Given the description of an element on the screen output the (x, y) to click on. 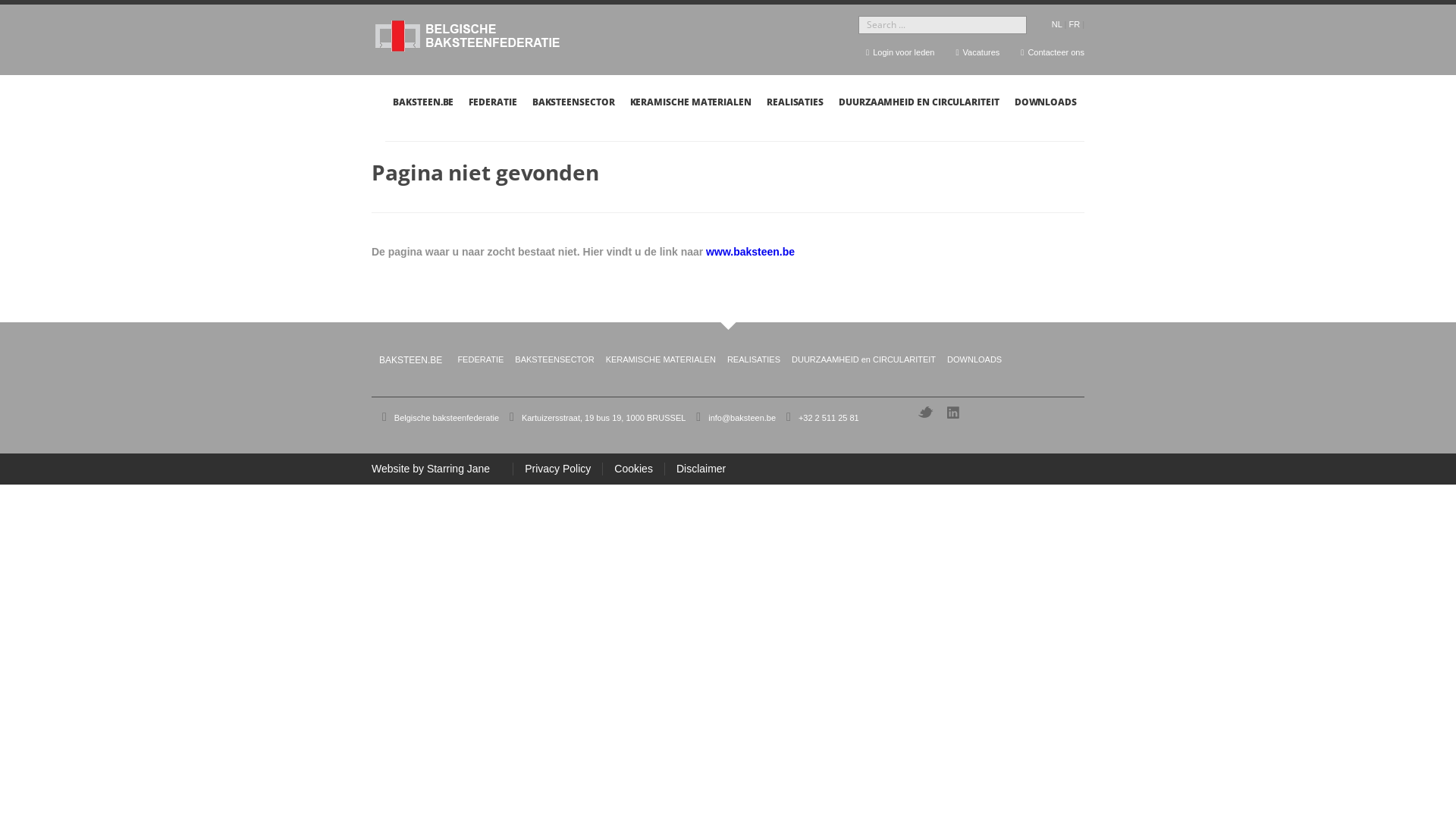
Vacatures Element type: text (976, 51)
FR Element type: text (1073, 23)
Contacteer ons Element type: text (1050, 51)
Twitter Element type: text (925, 411)
Login voor leden Element type: text (898, 51)
Cookies Element type: text (633, 468)
info@baksteen.be Element type: text (741, 417)
Linkedin Element type: text (954, 412)
www.baksteen.be  Element type: text (751, 251)
BAKSTEEN.BE Element type: text (410, 359)
Privacy Policy Element type: text (557, 468)
Disclaimer Element type: text (694, 468)
BAKSTEEN.BE Element type: text (423, 105)
Starring Jane Element type: text (463, 468)
